Given the description of an element on the screen output the (x, y) to click on. 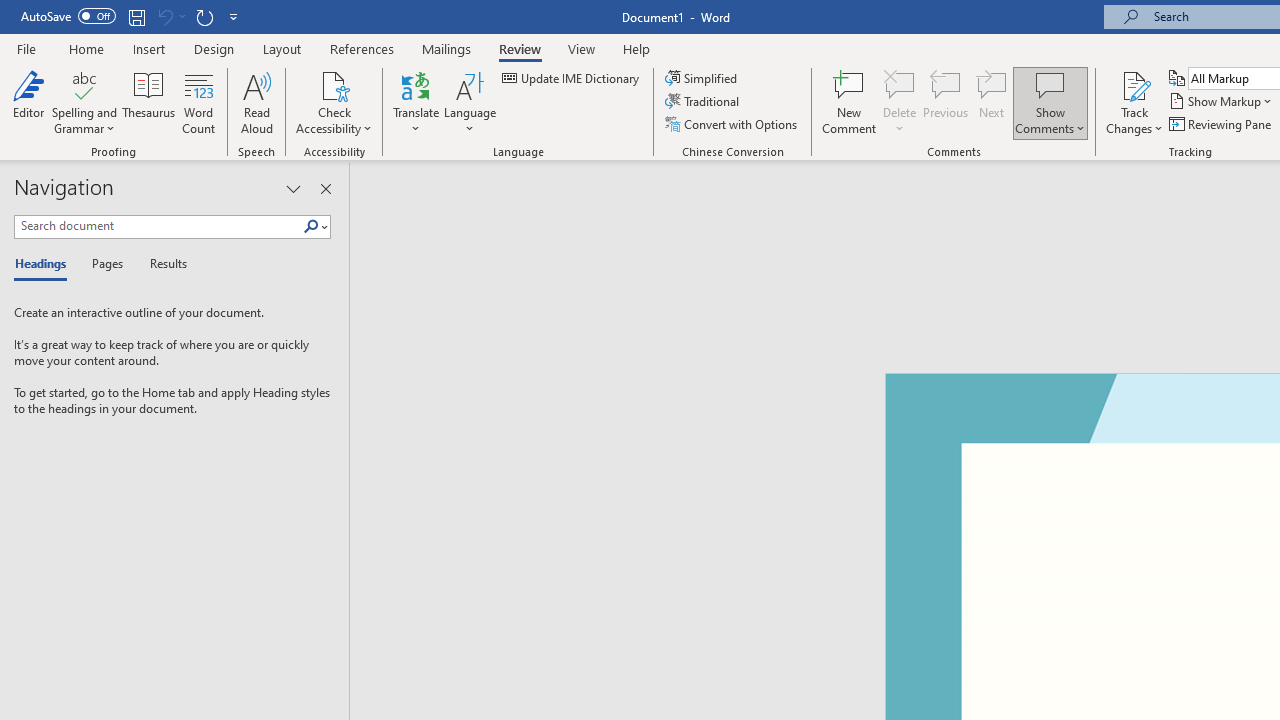
Check Accessibility (334, 84)
Update IME Dictionary... (572, 78)
Word Count (198, 102)
Language (470, 102)
Traditional (703, 101)
Can't Undo (170, 15)
Previous (946, 102)
Search document (157, 226)
